Given the description of an element on the screen output the (x, y) to click on. 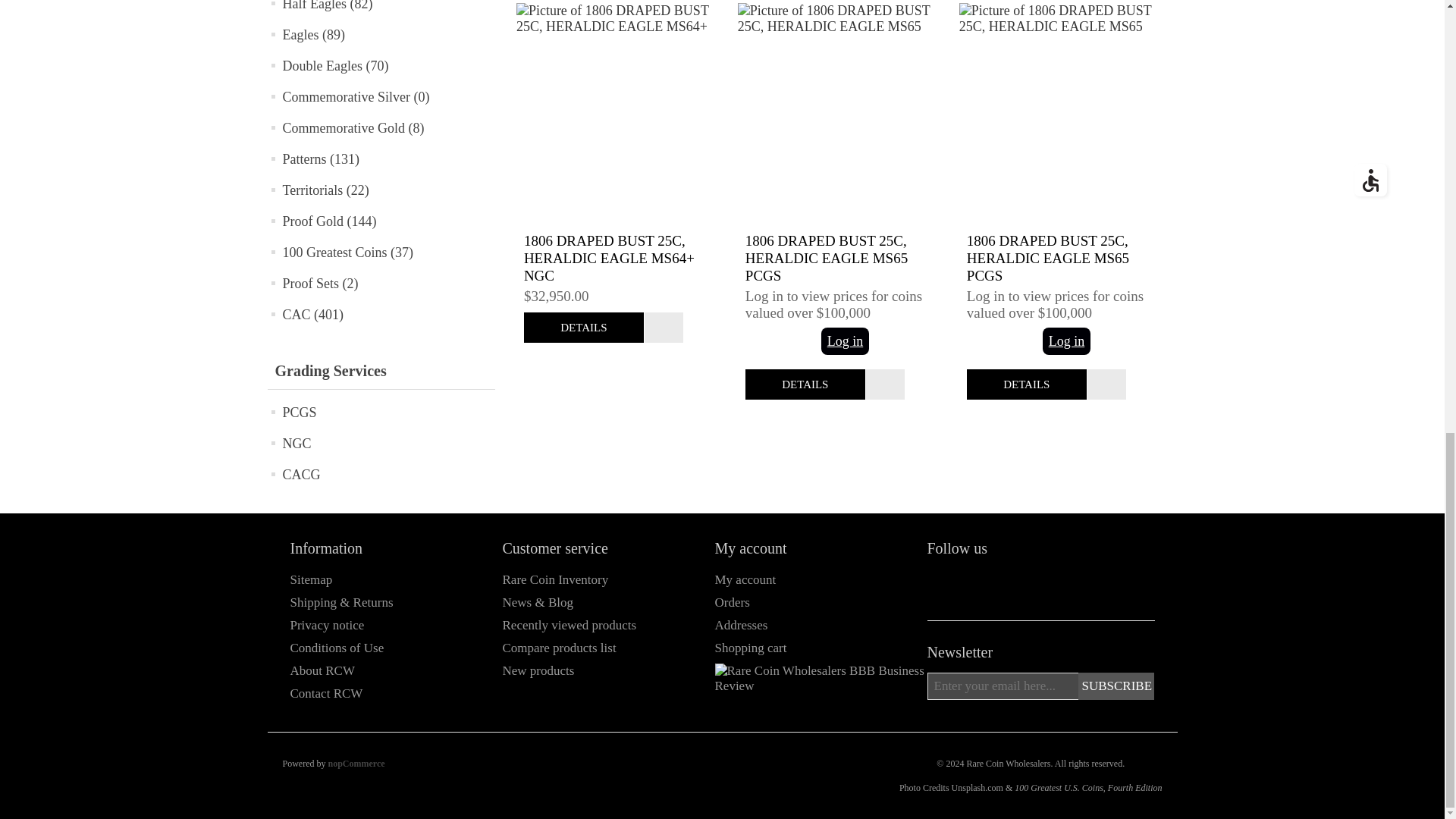
Subscribe (1116, 686)
Details (583, 327)
Add to compare list (884, 384)
Details (804, 384)
Add to compare list (663, 327)
Add to compare list (1106, 384)
Details (1026, 384)
